Given the description of an element on the screen output the (x, y) to click on. 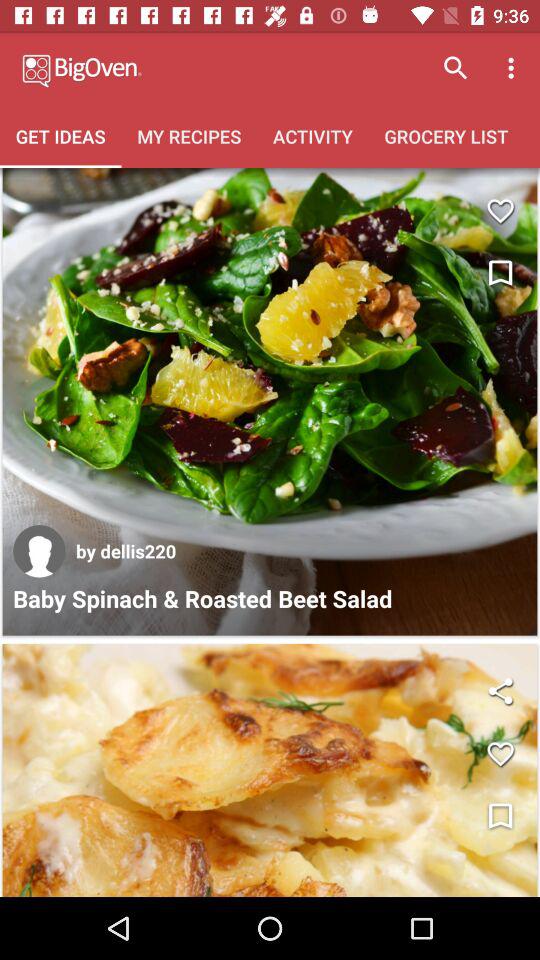
the favorite one (500, 210)
